Given the description of an element on the screen output the (x, y) to click on. 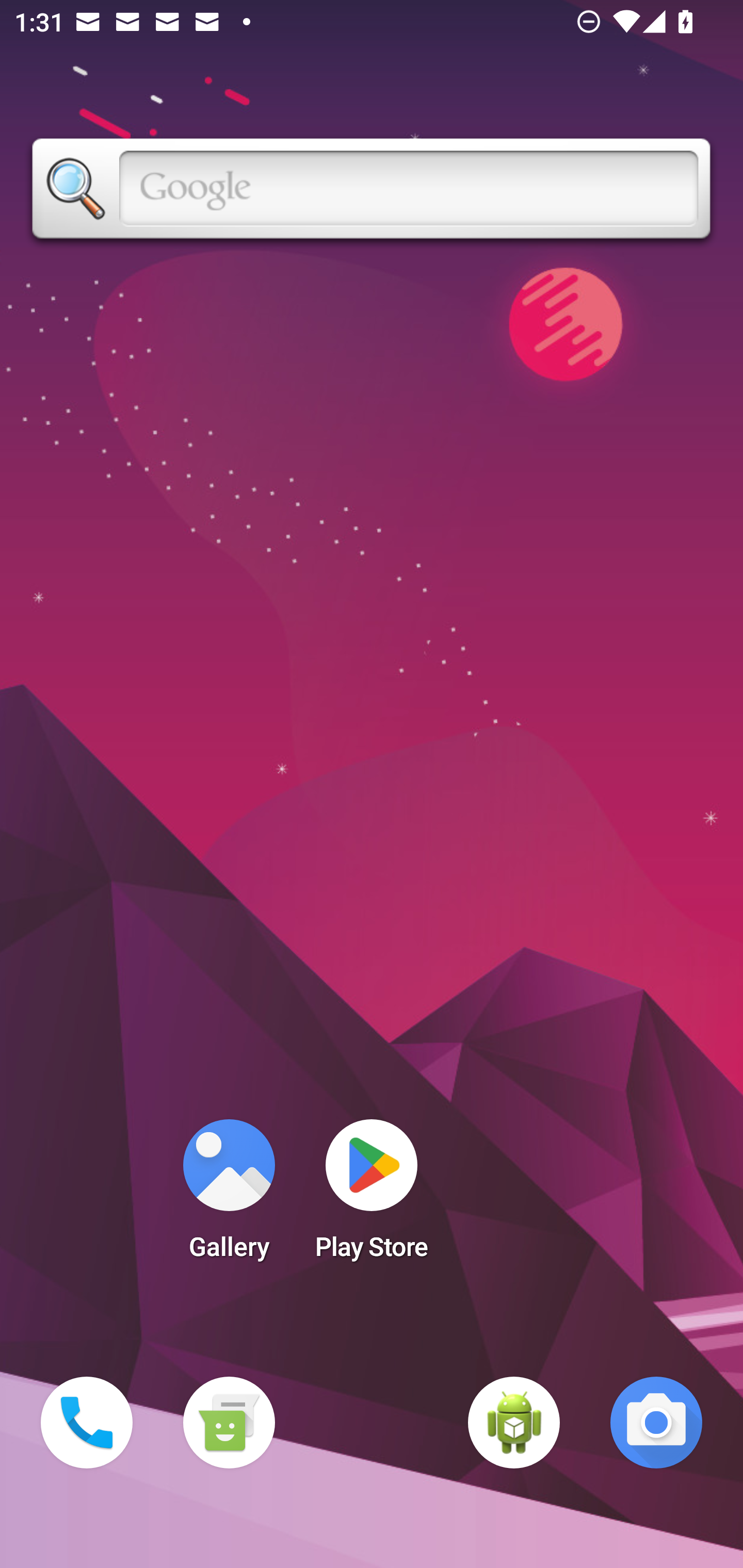
Gallery (228, 1195)
Play Store (371, 1195)
Phone (86, 1422)
Messaging (228, 1422)
WebView Browser Tester (513, 1422)
Camera (656, 1422)
